Given the description of an element on the screen output the (x, y) to click on. 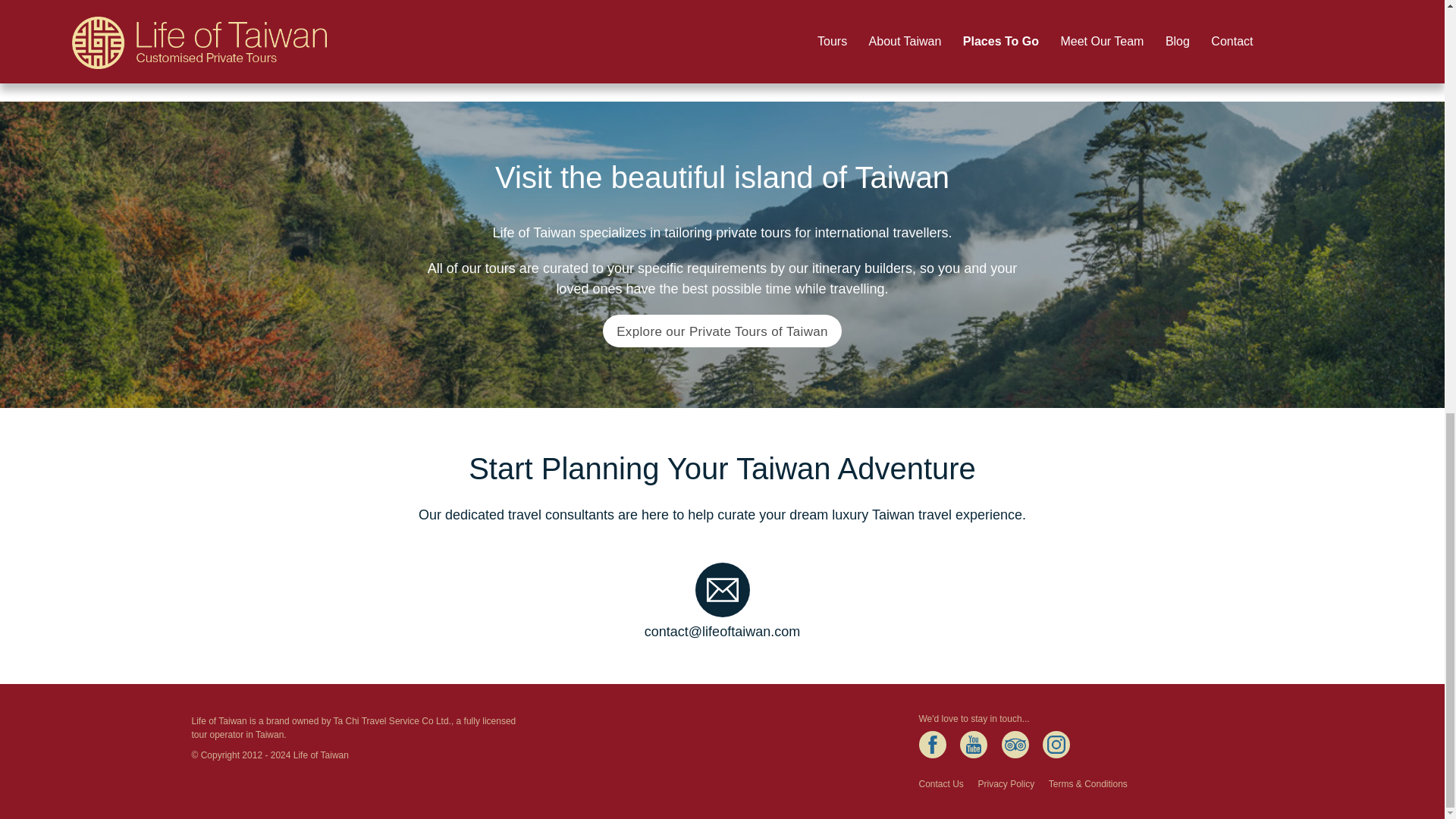
Facebook (932, 744)
TripAdvisor (1015, 744)
YouTube (973, 744)
Explore our Private Tours of Taiwan (721, 330)
Instagram (1056, 744)
